Given the description of an element on the screen output the (x, y) to click on. 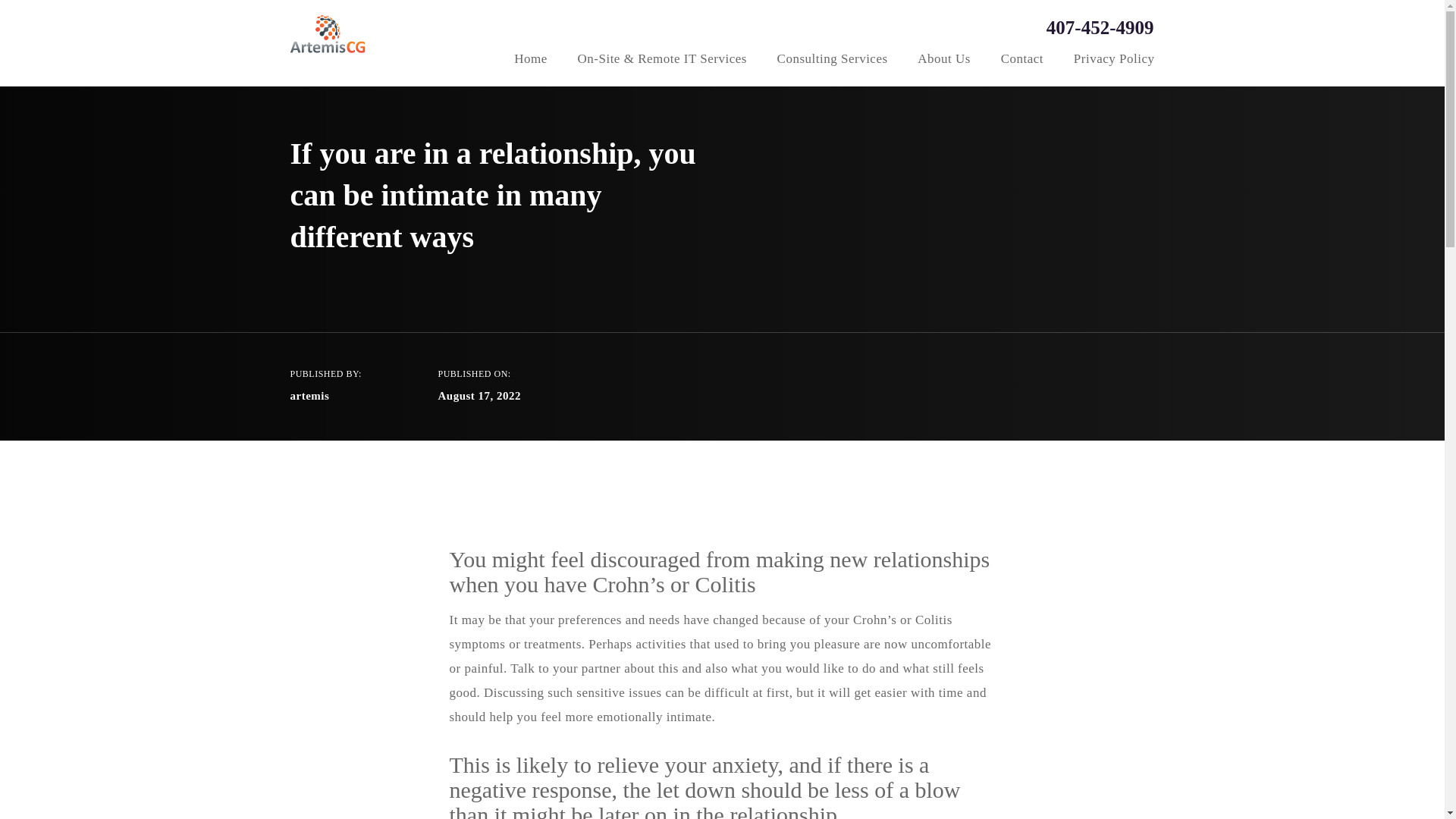
Home (530, 60)
About Us (944, 60)
artemis (309, 395)
Contact (1022, 60)
407-452-4909 (1082, 26)
August 17, 2022 (479, 395)
Privacy Policy (1114, 60)
Consulting Services (832, 60)
